Given the description of an element on the screen output the (x, y) to click on. 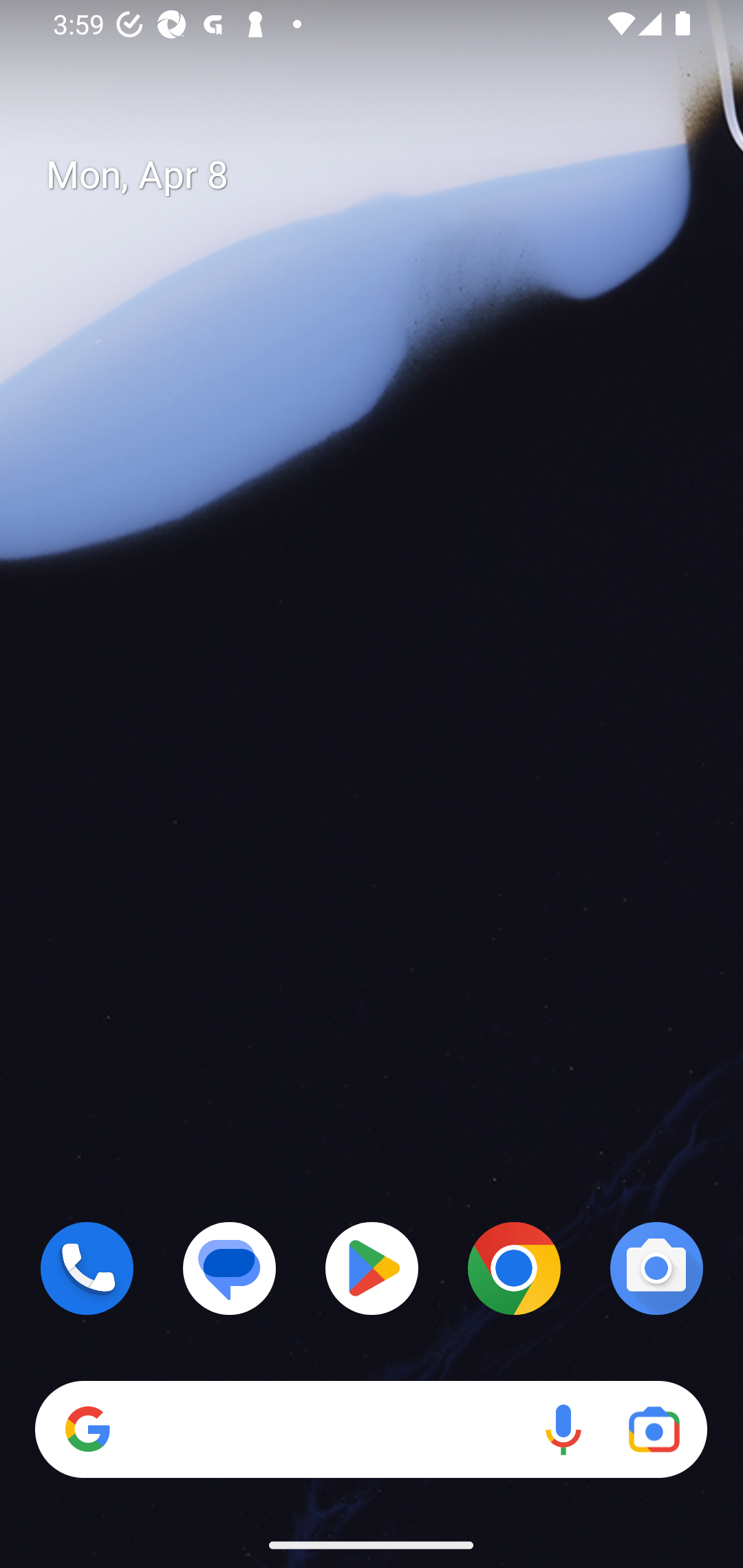
Mon, Apr 8 (386, 175)
Phone (86, 1268)
Messages (229, 1268)
Play Store (371, 1268)
Chrome (513, 1268)
Camera (656, 1268)
Search Voice search Google Lens (370, 1429)
Voice search (562, 1429)
Google Lens (653, 1429)
